Given the description of an element on the screen output the (x, y) to click on. 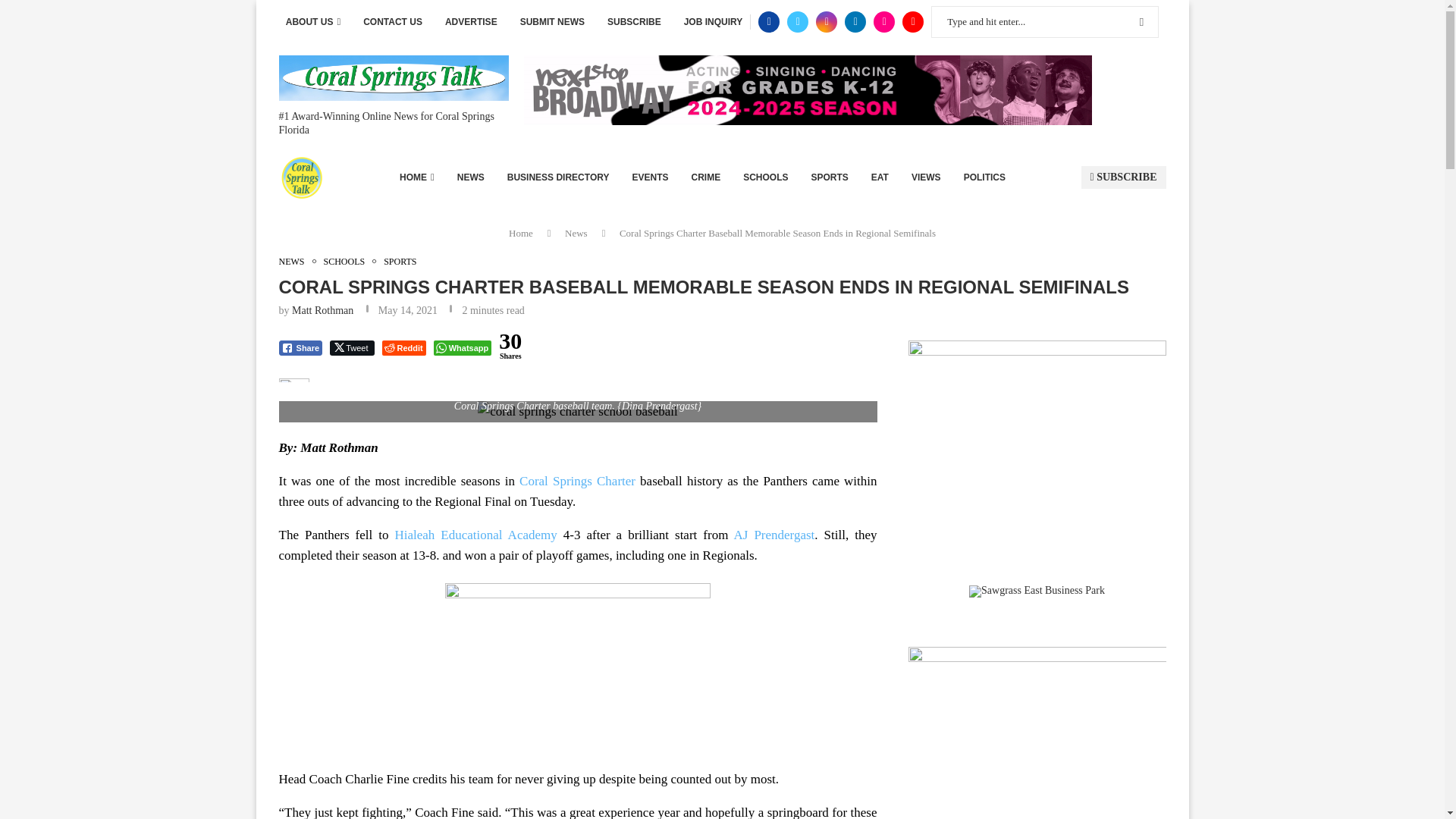
CONTACT US (392, 22)
BUSINESS DIRECTORY (558, 177)
ABOUT US (312, 22)
SUBSCRIBE (634, 22)
SUBMIT NEWS (552, 22)
ADVERTISE (471, 22)
JOB INQUIRY (713, 22)
